Given the description of an element on the screen output the (x, y) to click on. 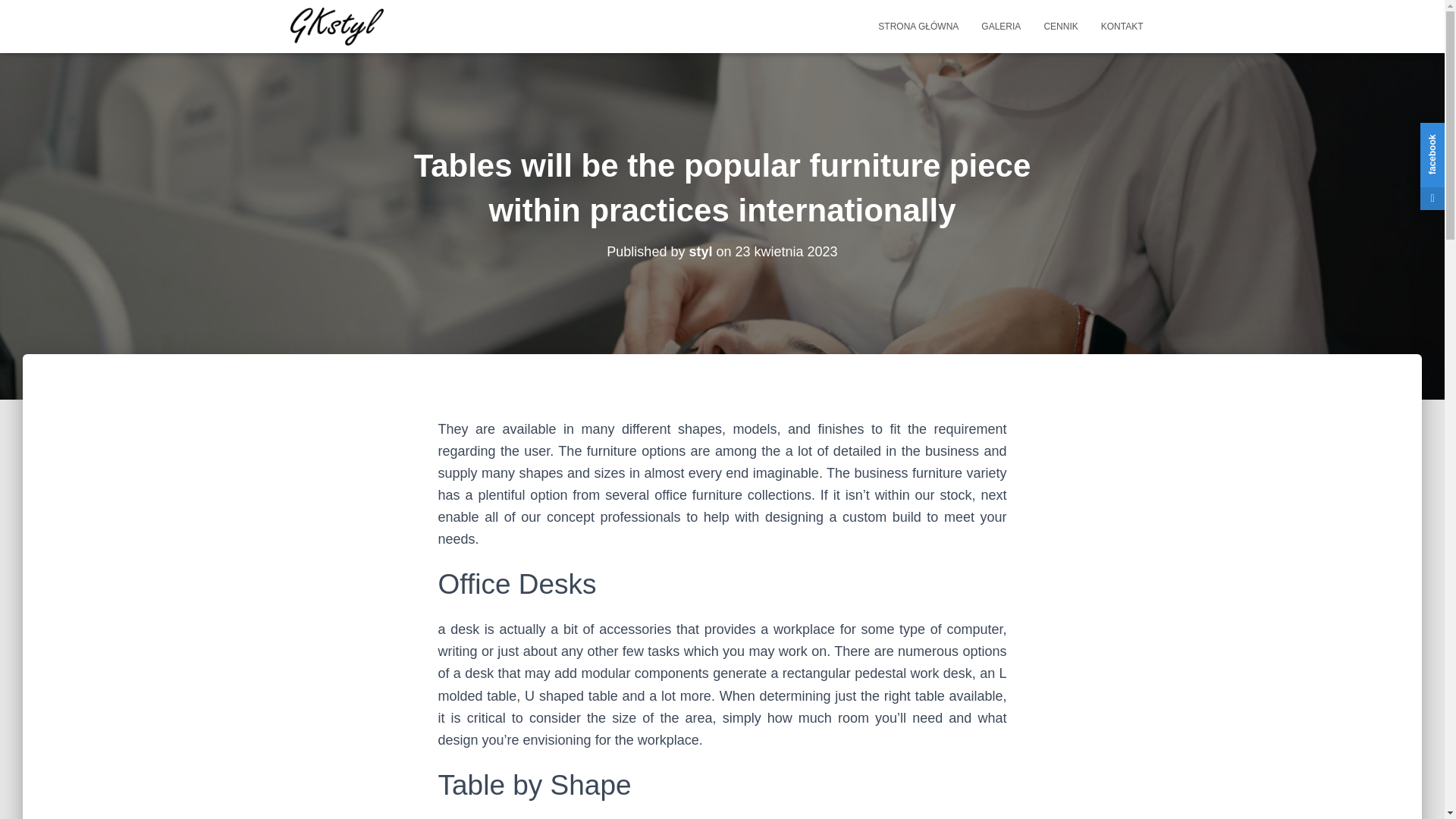
Gabinet kosmetyczny STYL (336, 26)
GALERIA (1000, 26)
Kontakt (1121, 26)
KONTAKT (1121, 26)
Cennik (1060, 26)
CENNIK (1060, 26)
Galeria (1000, 26)
styl (699, 251)
